Given the description of an element on the screen output the (x, y) to click on. 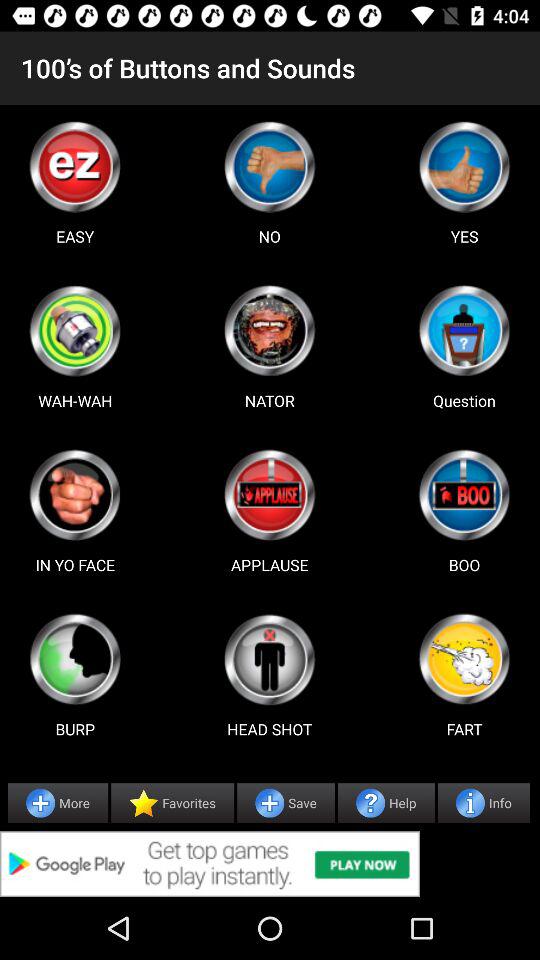
applause sound (269, 495)
